Given the description of an element on the screen output the (x, y) to click on. 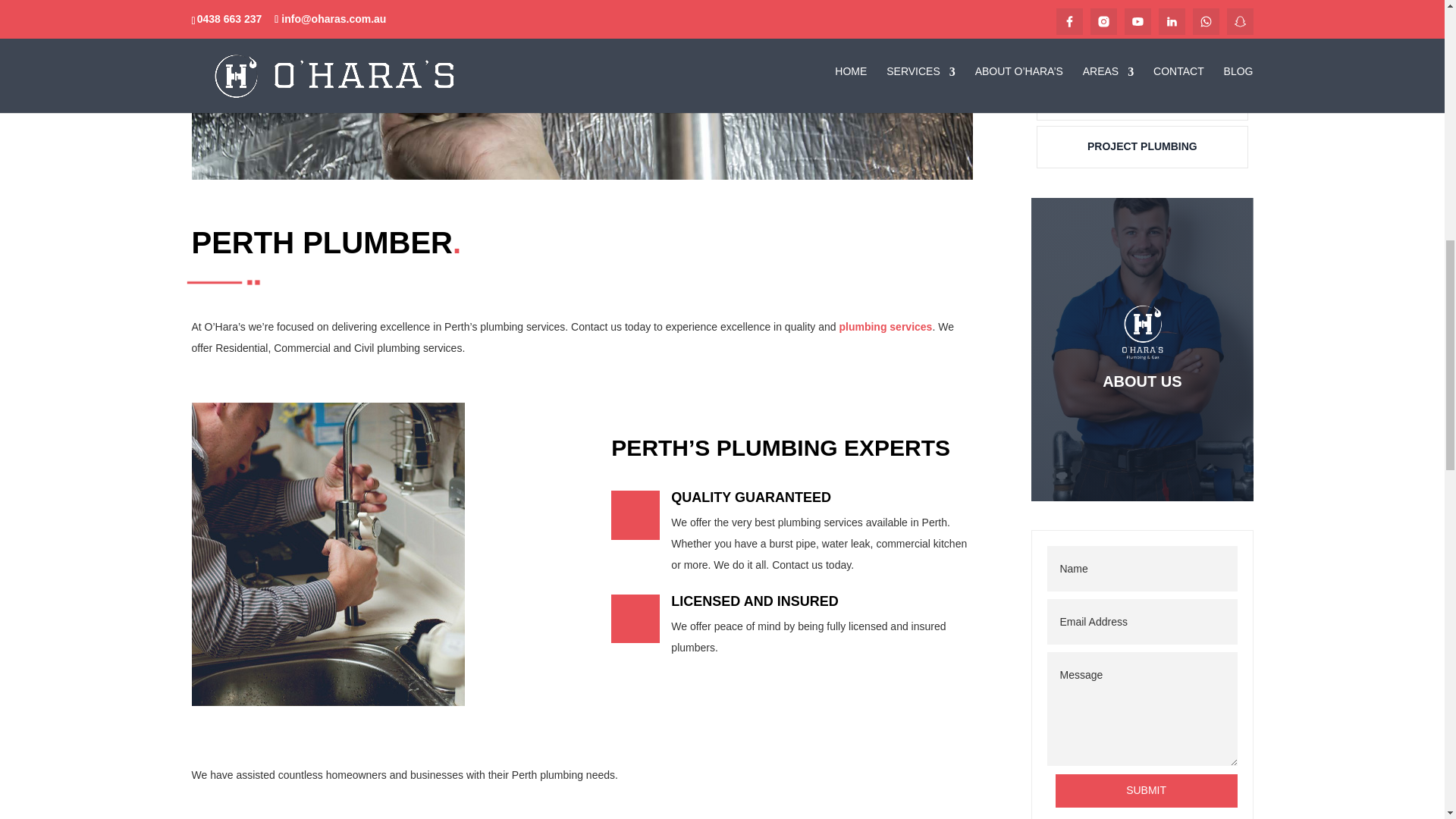
plumbing-service (327, 553)
